Given the description of an element on the screen output the (x, y) to click on. 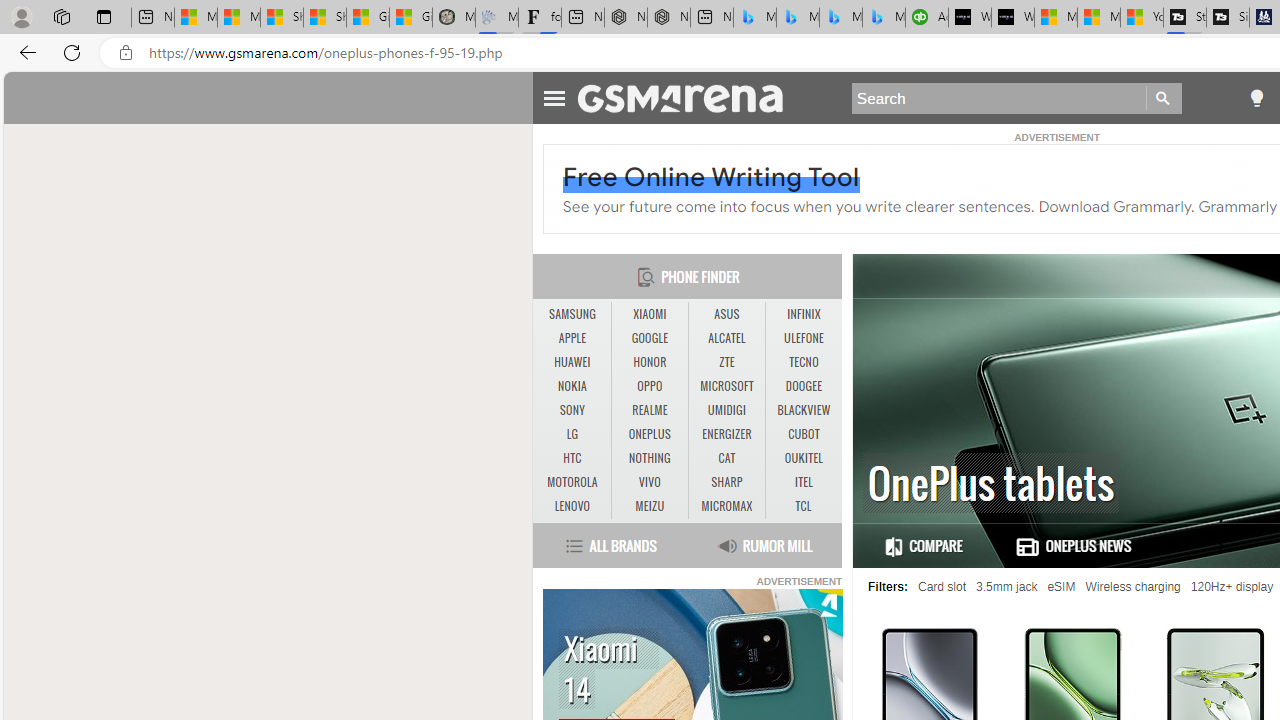
SONY (571, 411)
ULEFONE (803, 338)
